Given the description of an element on the screen output the (x, y) to click on. 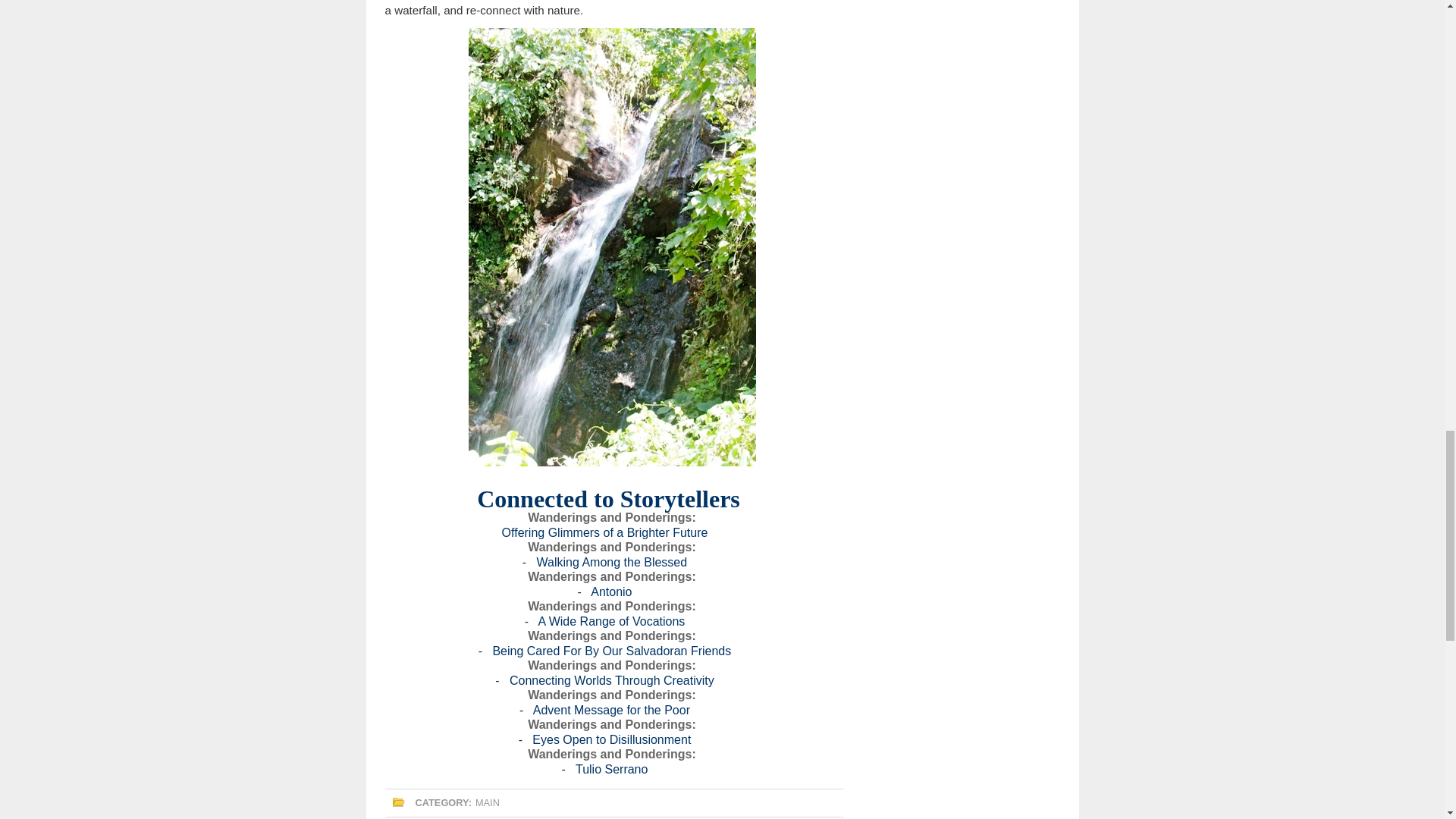
Eyes Open to Disillusionment (611, 739)
Offering Glimmers of a Brighter Future (604, 532)
Being Cared For By Our Salvadoran Friends (611, 650)
Connecting Worlds Through Creativity (611, 680)
Advent Message for the Poor (611, 709)
A Wide Range of Vocations (610, 621)
Walking Among the Blessed (612, 562)
Antonio (611, 591)
Connected to Storytellers (608, 498)
MAIN (487, 802)
Tulio Serrano (611, 768)
